Given the description of an element on the screen output the (x, y) to click on. 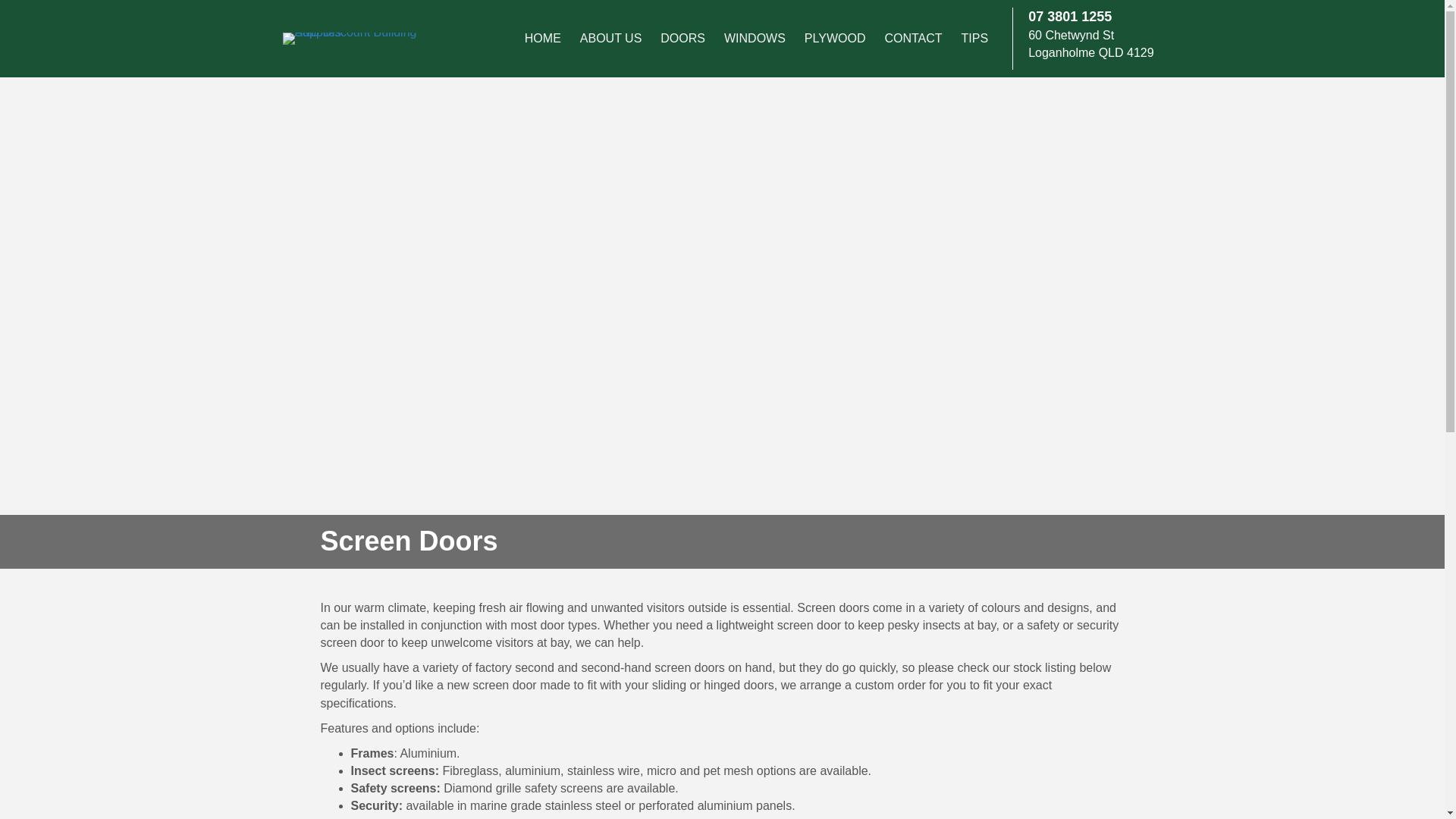
ABOUT US (610, 38)
CONTACT (912, 38)
DOORS (682, 38)
PLYWOOD (834, 38)
HOME (542, 38)
07 3801 1255 (1069, 16)
TIPS (974, 38)
WINDOWS (754, 38)
07 3801 1255 (1069, 16)
